Given the description of an element on the screen output the (x, y) to click on. 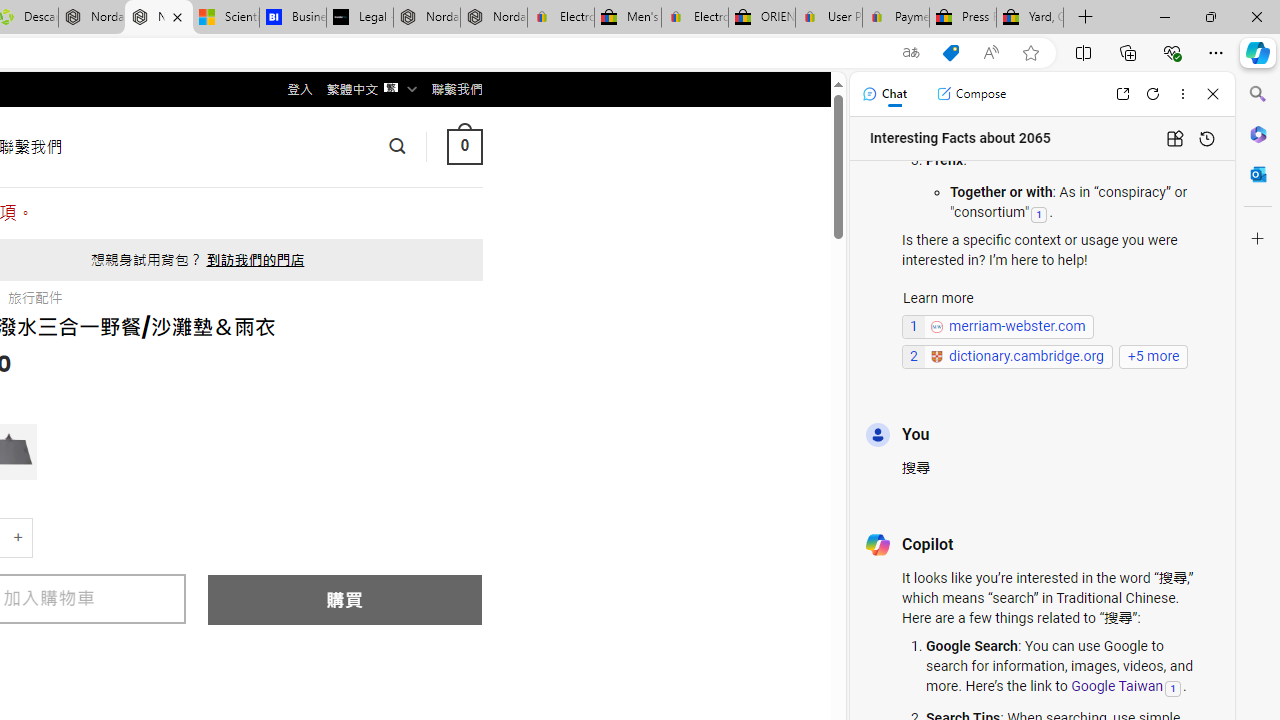
Payments Terms of Use | eBay.com (895, 17)
Minimize Search pane (1258, 94)
